Given the description of an element on the screen output the (x, y) to click on. 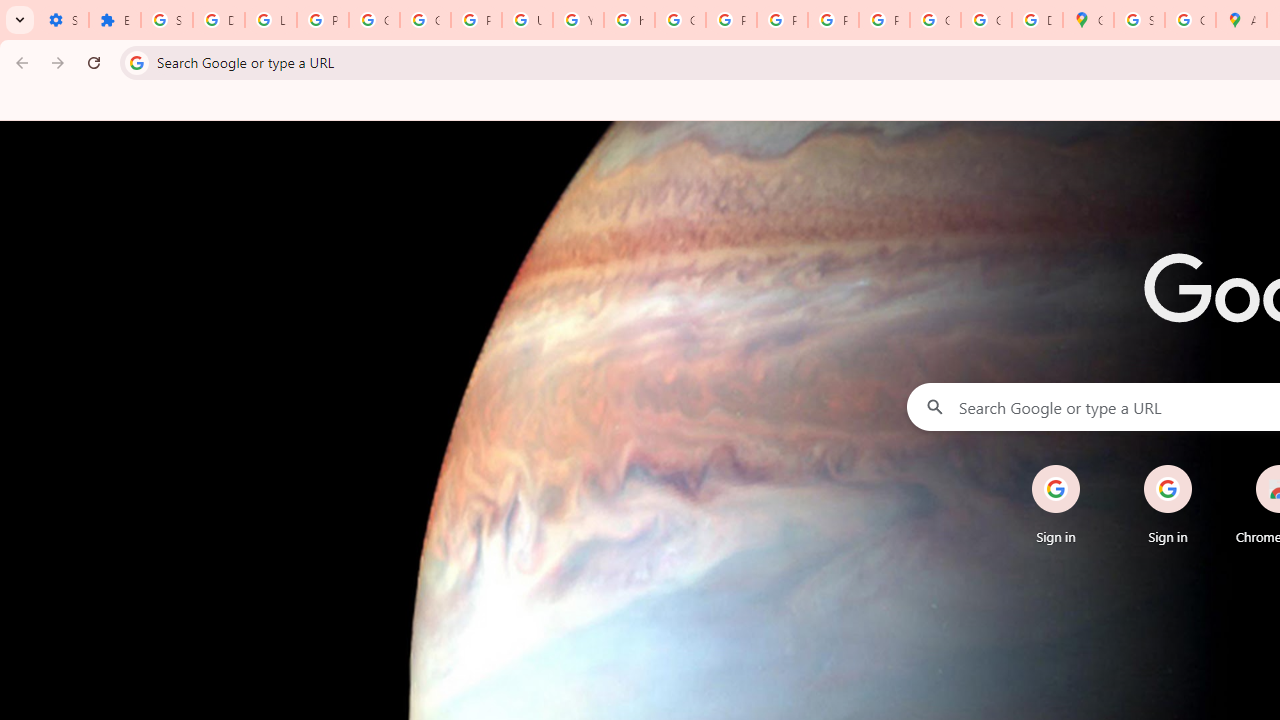
Create your Google Account (1189, 20)
Privacy Help Center - Policies Help (731, 20)
Google Maps (1087, 20)
https://scholar.google.com/ (629, 20)
